Given the description of an element on the screen output the (x, y) to click on. 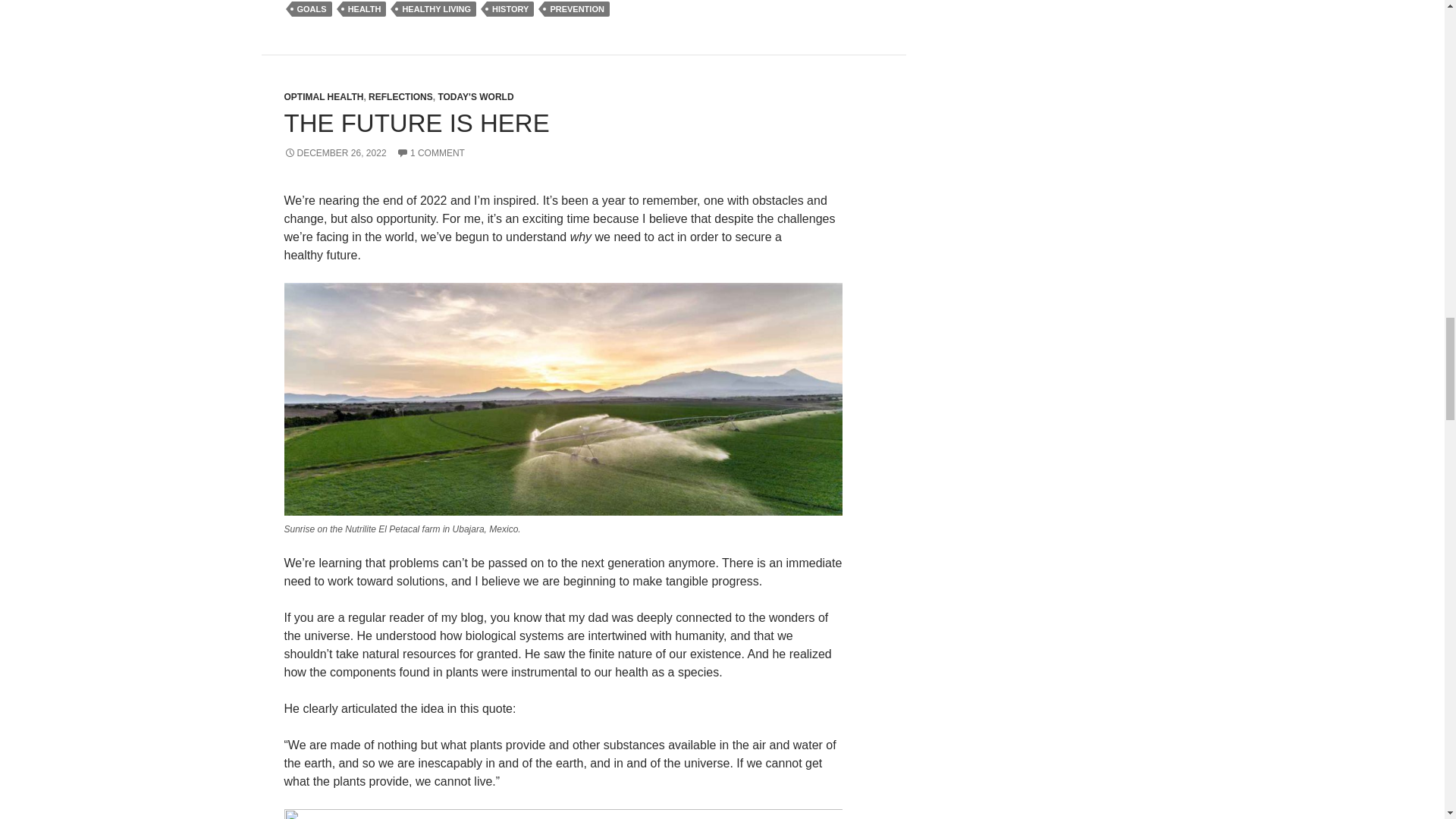
TODAY'S WORLD (475, 96)
DECEMBER 26, 2022 (334, 153)
HEALTH (364, 8)
PREVENTION (577, 8)
THE FUTURE IS HERE (415, 122)
GOALS (311, 8)
OPTIMAL HEALTH (322, 96)
HEALTHY LIVING (436, 8)
REFLECTIONS (400, 96)
1 COMMENT (430, 153)
HISTORY (510, 8)
